Given the description of an element on the screen output the (x, y) to click on. 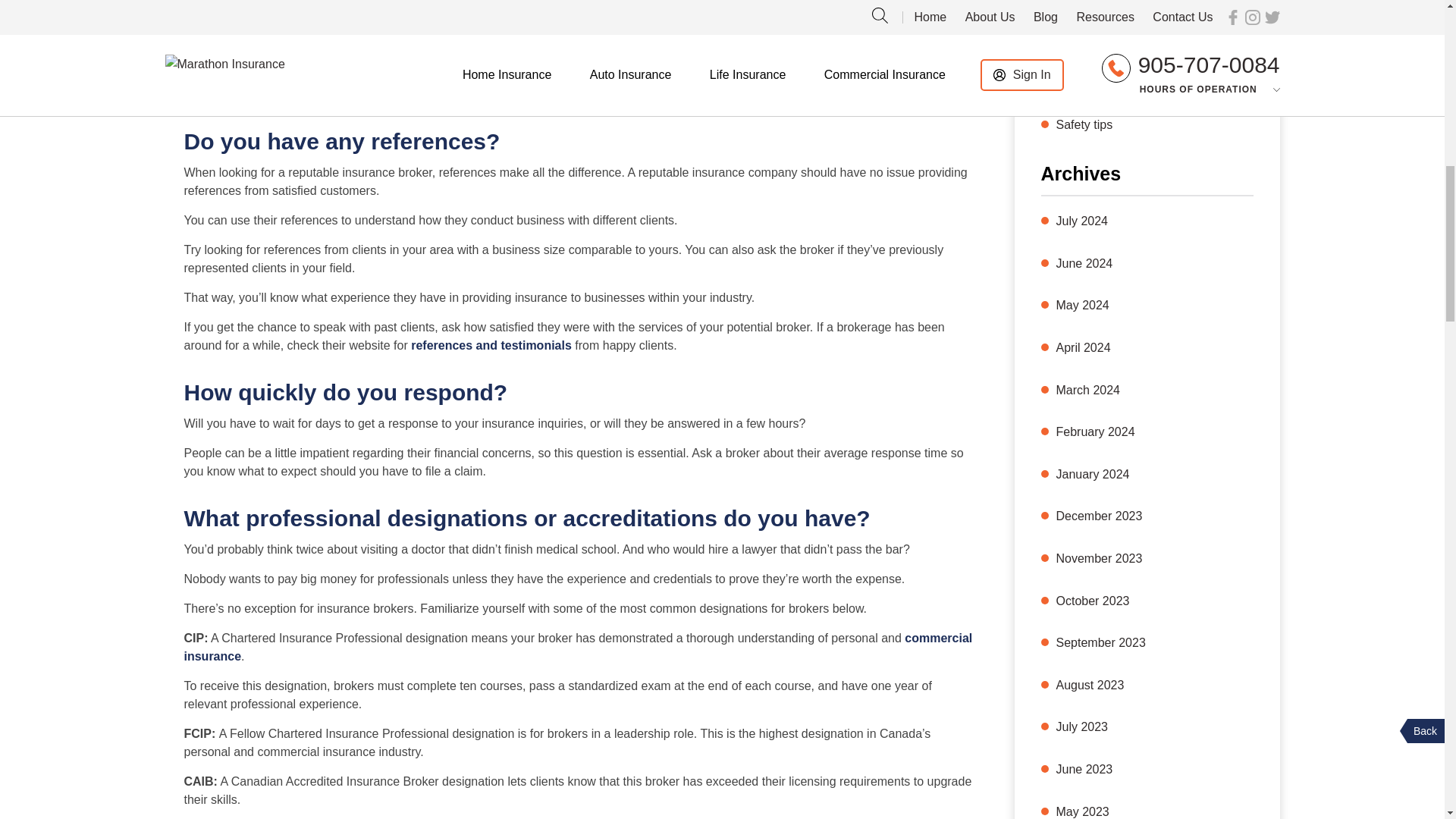
Safety tips (1083, 125)
Home Insurance (1099, 39)
Life Insurance (1093, 82)
Home and Auto Insurance (1125, 4)
